Given the description of an element on the screen output the (x, y) to click on. 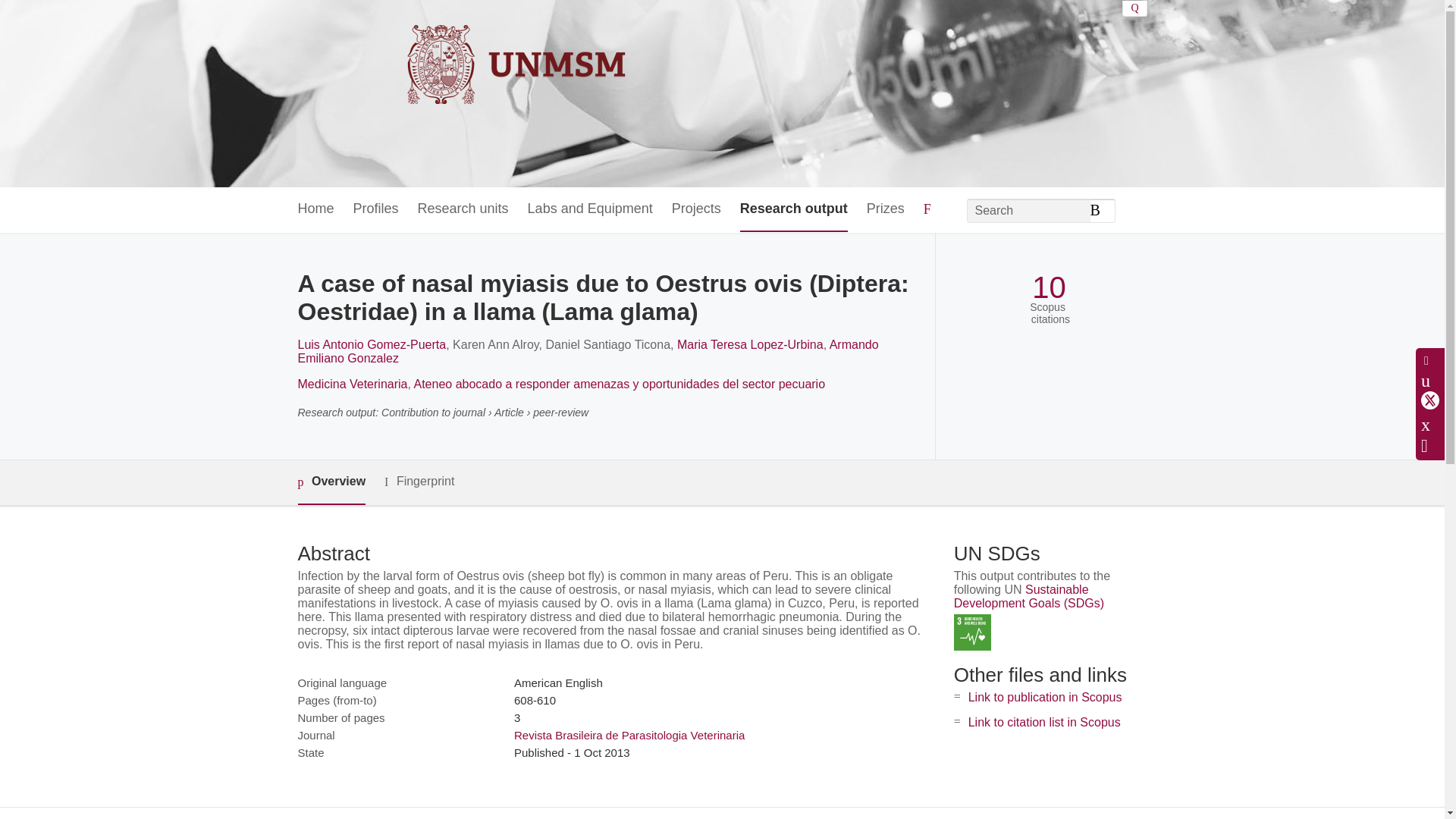
SDG 3 - Good Health and Well-being (972, 632)
Maria Teresa Lopez-Urbina (750, 344)
Medicina Veterinaria (352, 383)
Link to publication in Scopus (1045, 697)
Research units (462, 209)
Revista Brasileira de Parasitologia Veterinaria (628, 735)
Projects (695, 209)
Profiles (375, 209)
Universidad Nacional Mayor de San Marcos Home (463, 93)
Link to citation list in Scopus (1044, 721)
Luis Antonio Gomez-Puerta (371, 344)
Overview (331, 482)
Labs and Equipment (589, 209)
